Given the description of an element on the screen output the (x, y) to click on. 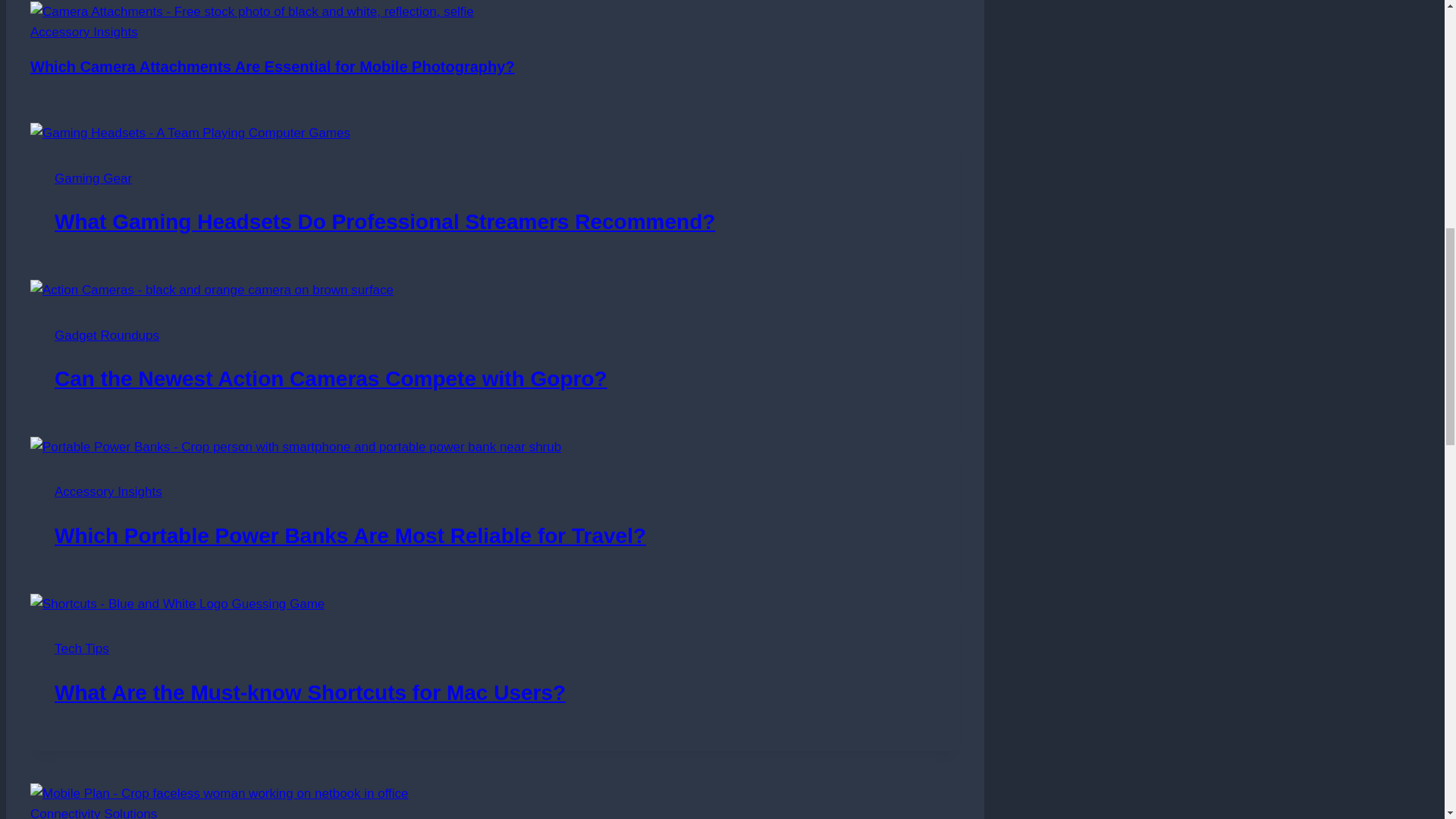
Tech Tips (82, 648)
What Are the Must-know Shortcuts for Mac Users? (310, 692)
Gadget Roundups (106, 334)
Can the Newest Action Cameras Compete with Gopro? (331, 378)
What Gaming Headsets Do Professional Streamers Recommend? (384, 221)
Accessory Insights (108, 491)
Connectivity Solutions (93, 812)
Which Portable Power Banks Are Most Reliable for Travel? (350, 535)
Accessory Insights (84, 32)
Gaming Gear (93, 178)
